Given the description of an element on the screen output the (x, y) to click on. 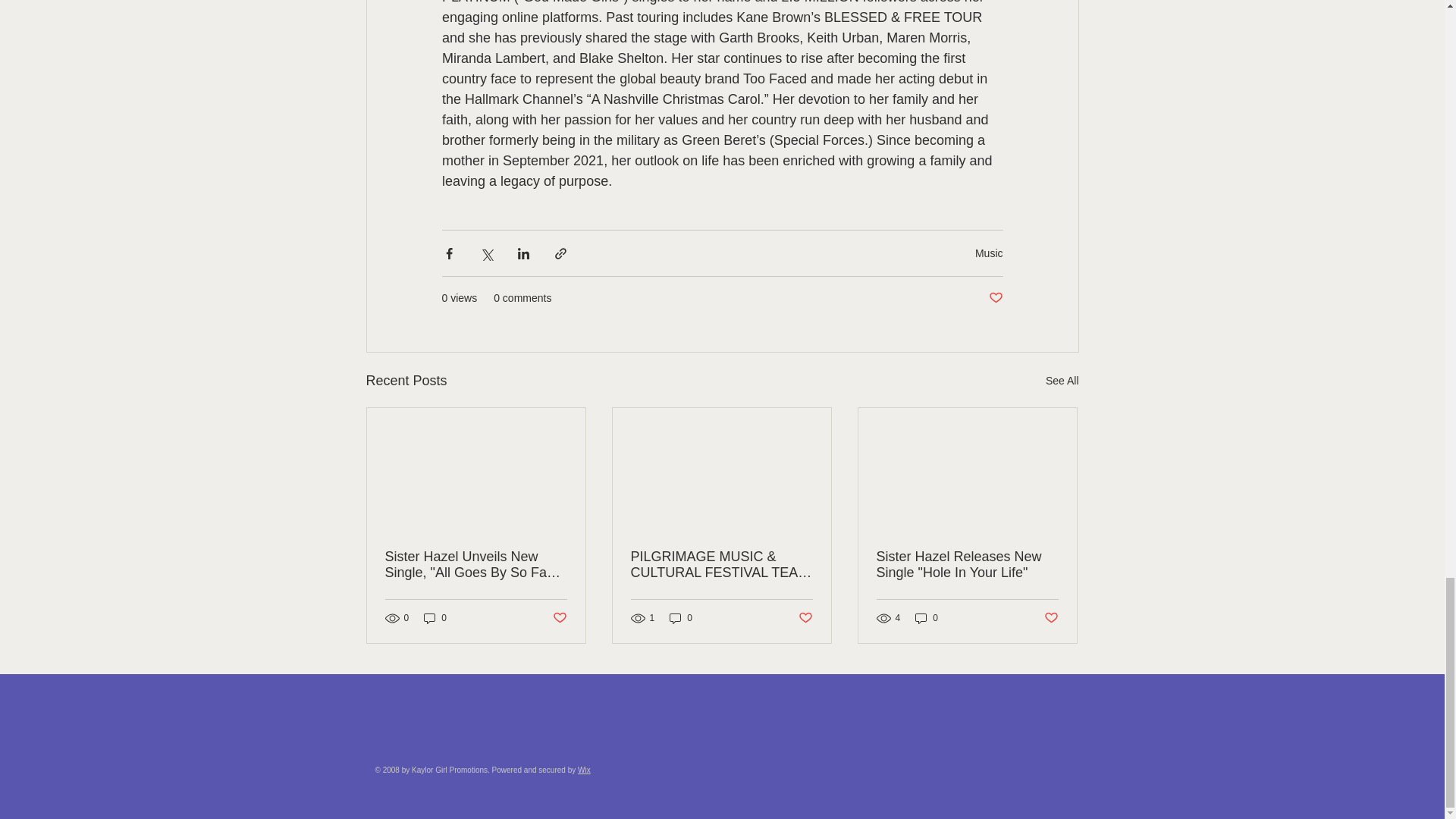
0 (681, 617)
Post not marked as liked (995, 298)
Post not marked as liked (558, 618)
See All (1061, 381)
Post not marked as liked (804, 618)
0 (435, 617)
Music (989, 252)
